Given the description of an element on the screen output the (x, y) to click on. 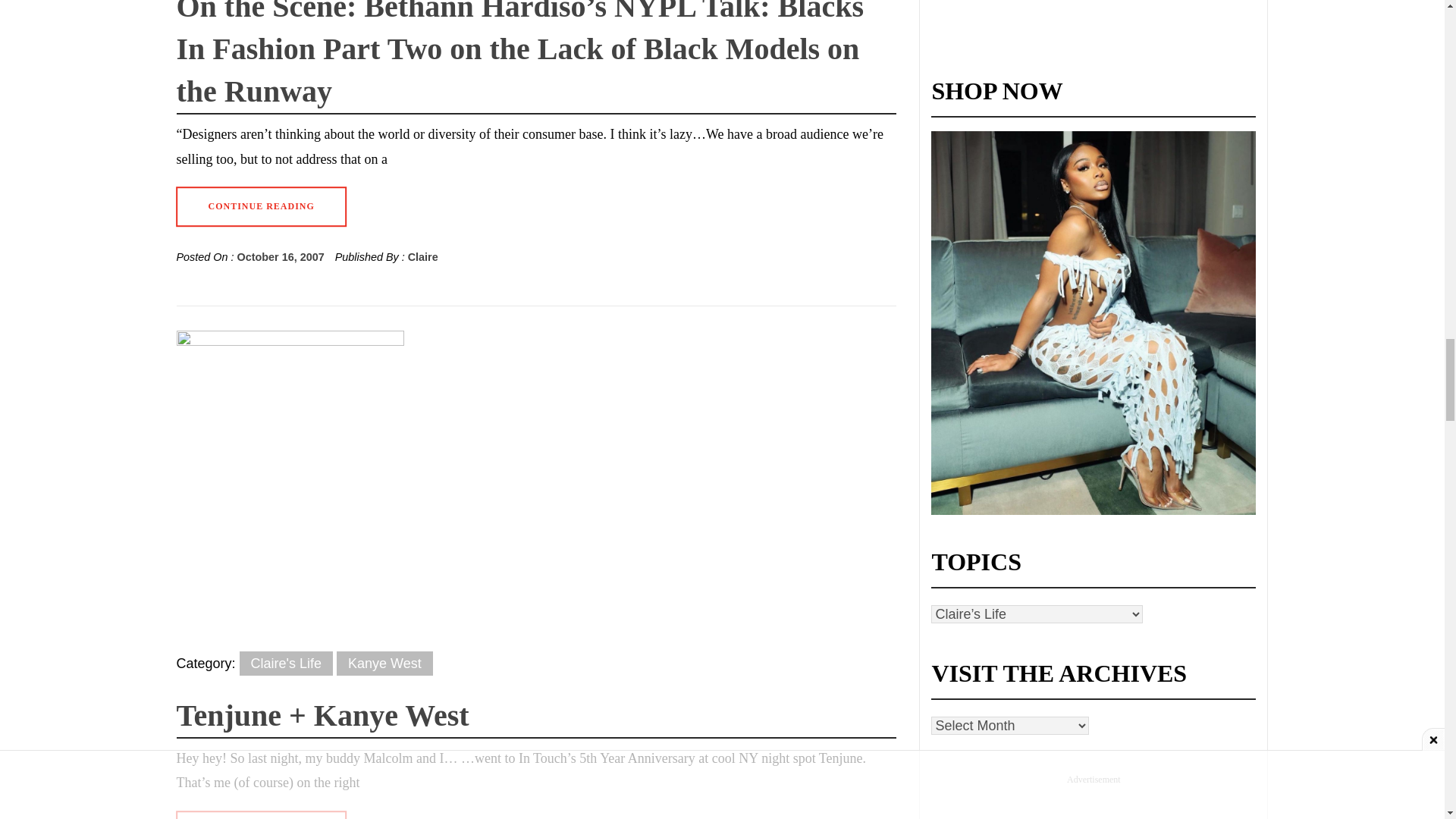
3rd party ad content (1093, 801)
YouTube video player (1044, 18)
